Given the description of an element on the screen output the (x, y) to click on. 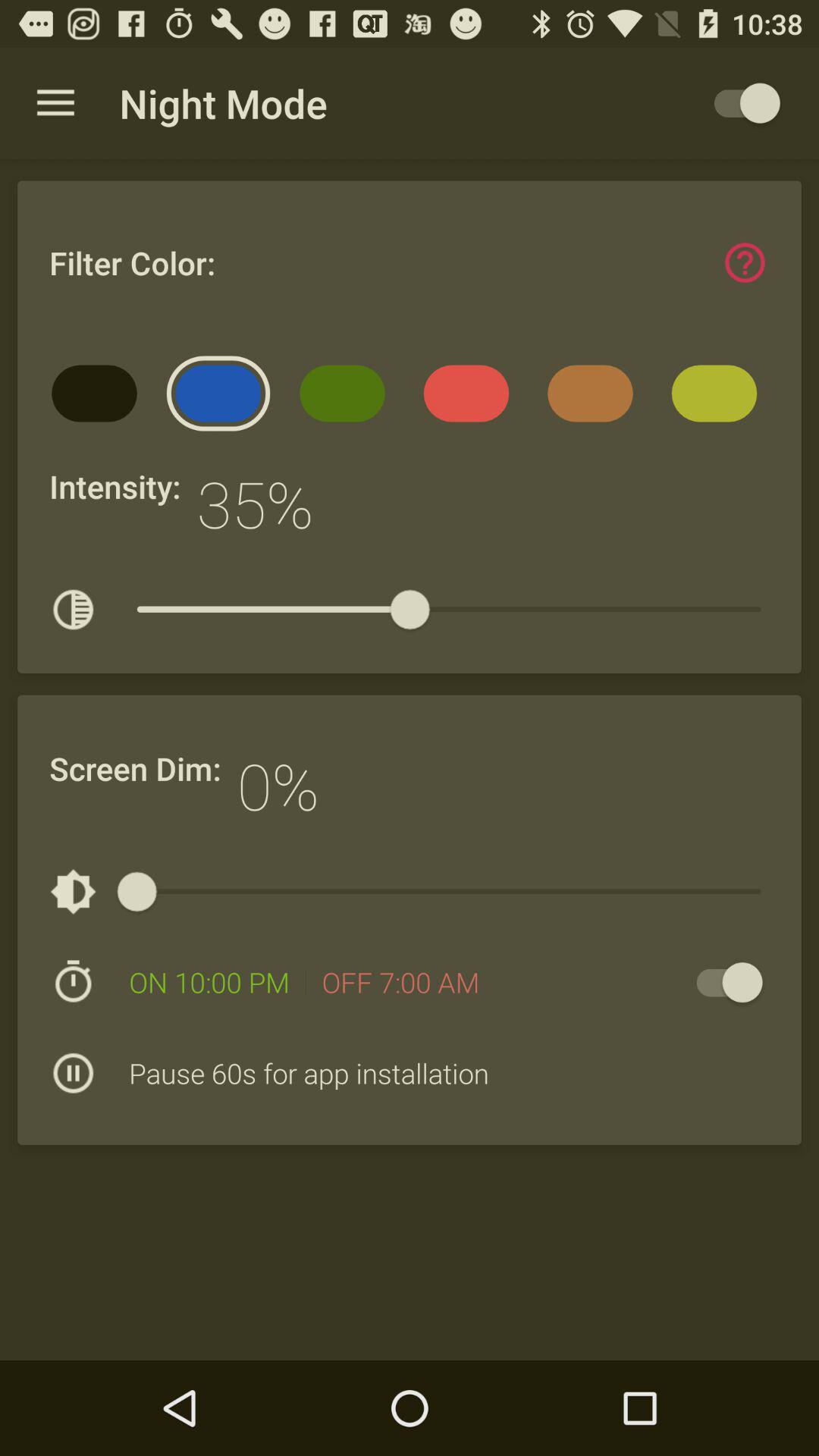
color option (744, 262)
